Given the description of an element on the screen output the (x, y) to click on. 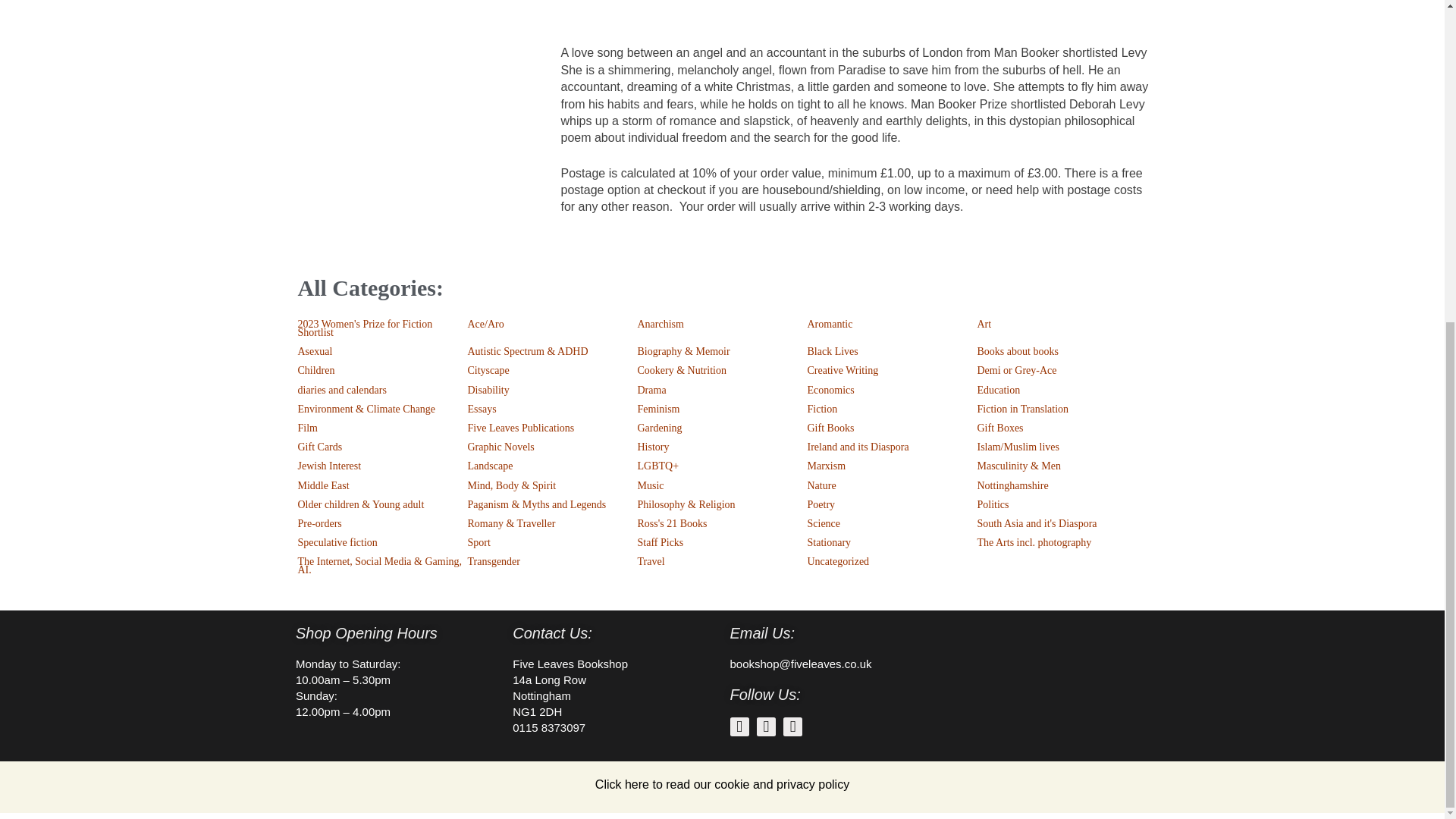
Drama (721, 389)
Children (382, 370)
Asexual (382, 351)
Disability (552, 389)
Creative Writing (891, 370)
Economics (891, 389)
2023 Women's Prize for Fiction Shortlist (382, 328)
Cityscape (552, 370)
Aromantic (891, 323)
Anarchism (721, 323)
diaries and calendars (382, 389)
Art (1061, 323)
Books about books (1061, 351)
Black Lives (891, 351)
Demi or Grey-Ace (1061, 370)
